Given the description of an element on the screen output the (x, y) to click on. 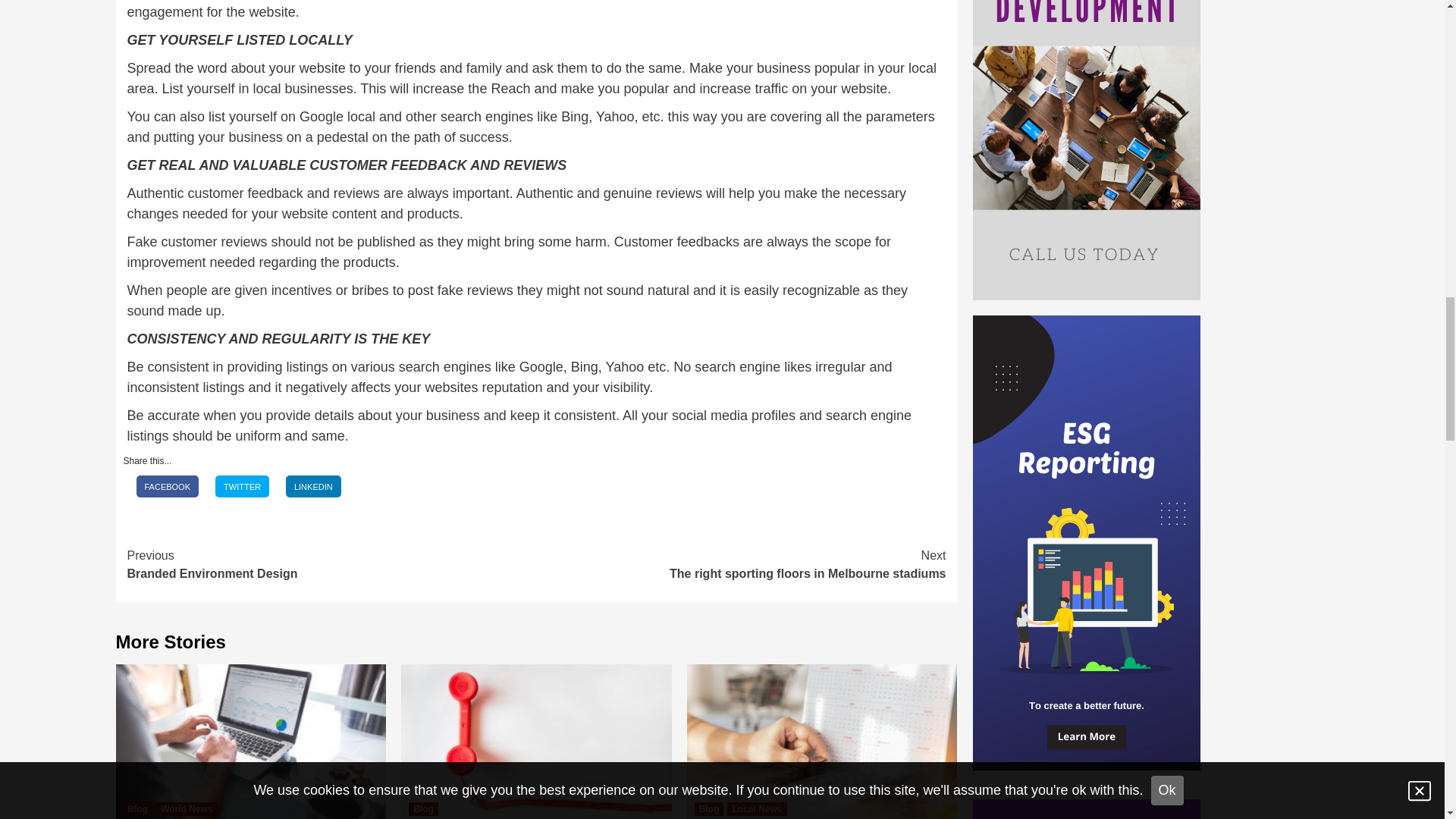
World News (185, 808)
Facebook (167, 487)
Blog (137, 808)
Blog (708, 808)
Local News (756, 808)
FACEBOOK (741, 565)
Blog (167, 486)
TWITTER (332, 565)
LINKEDIN (423, 808)
Twitter (242, 486)
Linkedin (312, 486)
